Given the description of an element on the screen output the (x, y) to click on. 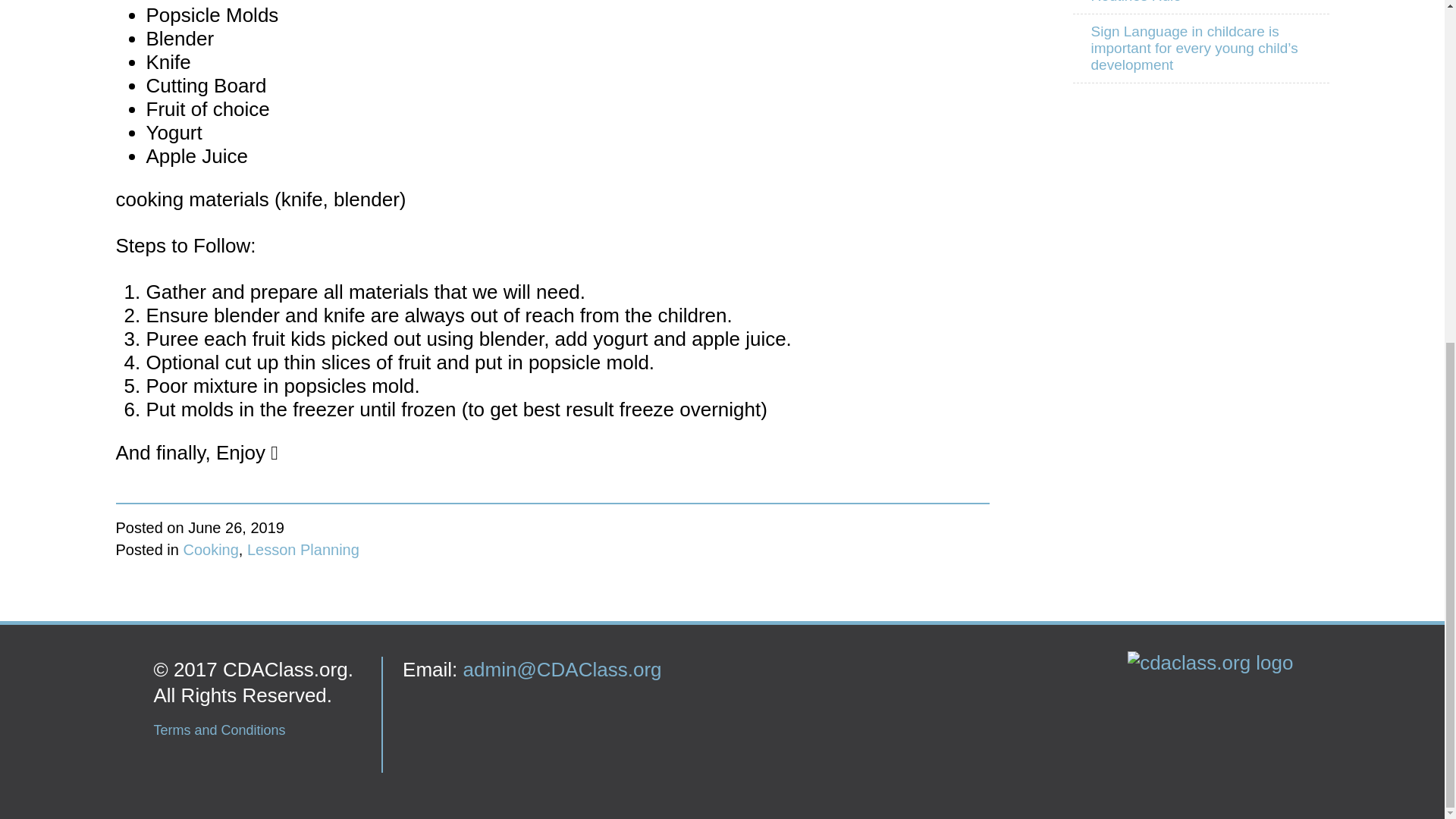
Terms and Conditions (218, 729)
Cooking (210, 549)
Lesson Planning (303, 549)
Routines Rule (1199, 6)
